Given the description of an element on the screen output the (x, y) to click on. 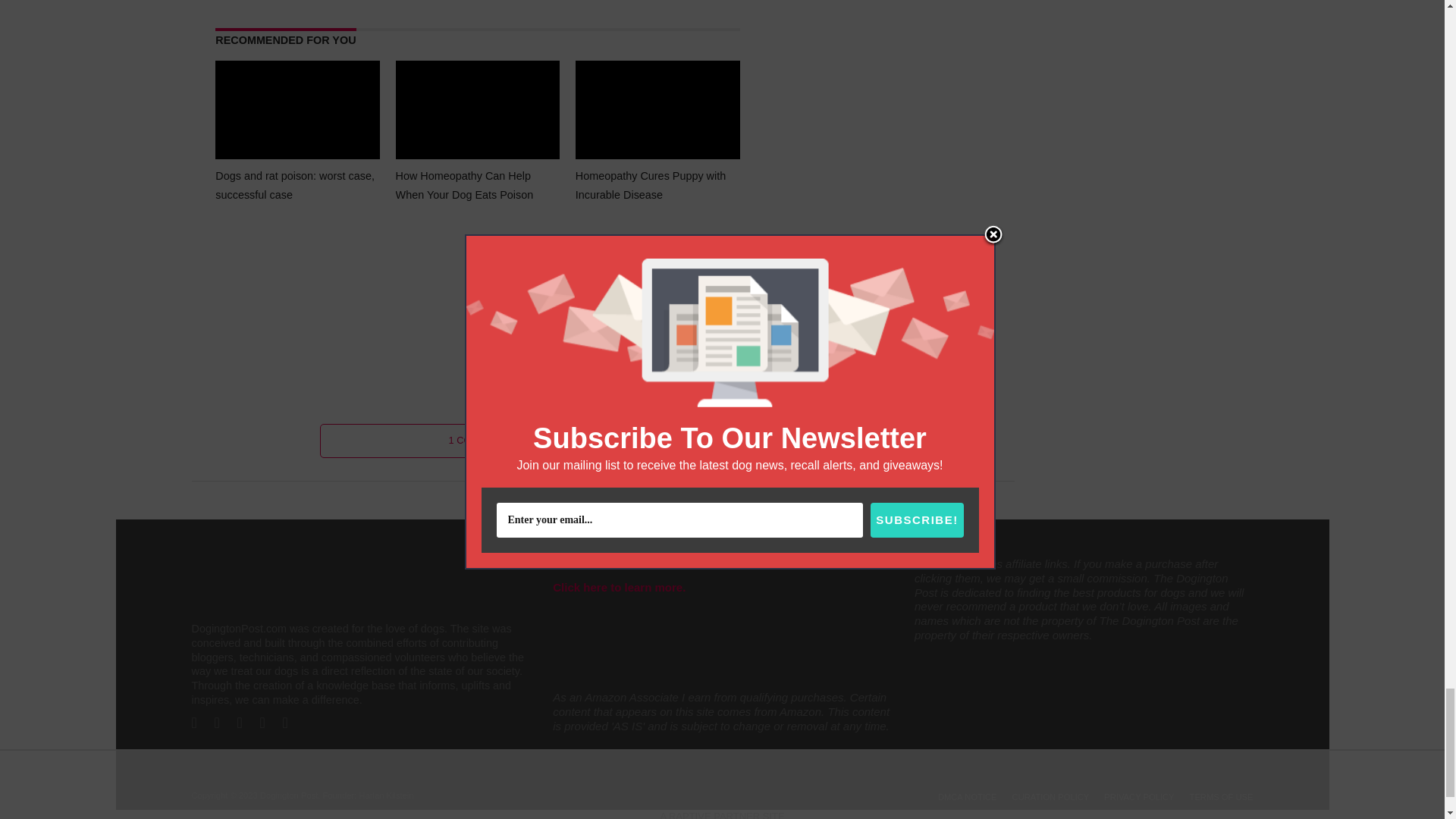
Dogs and rat poison: worst case, successful case (297, 159)
Dogs And Rat Poison: Worst Case, Successful Case 4 (297, 111)
